Given the description of an element on the screen output the (x, y) to click on. 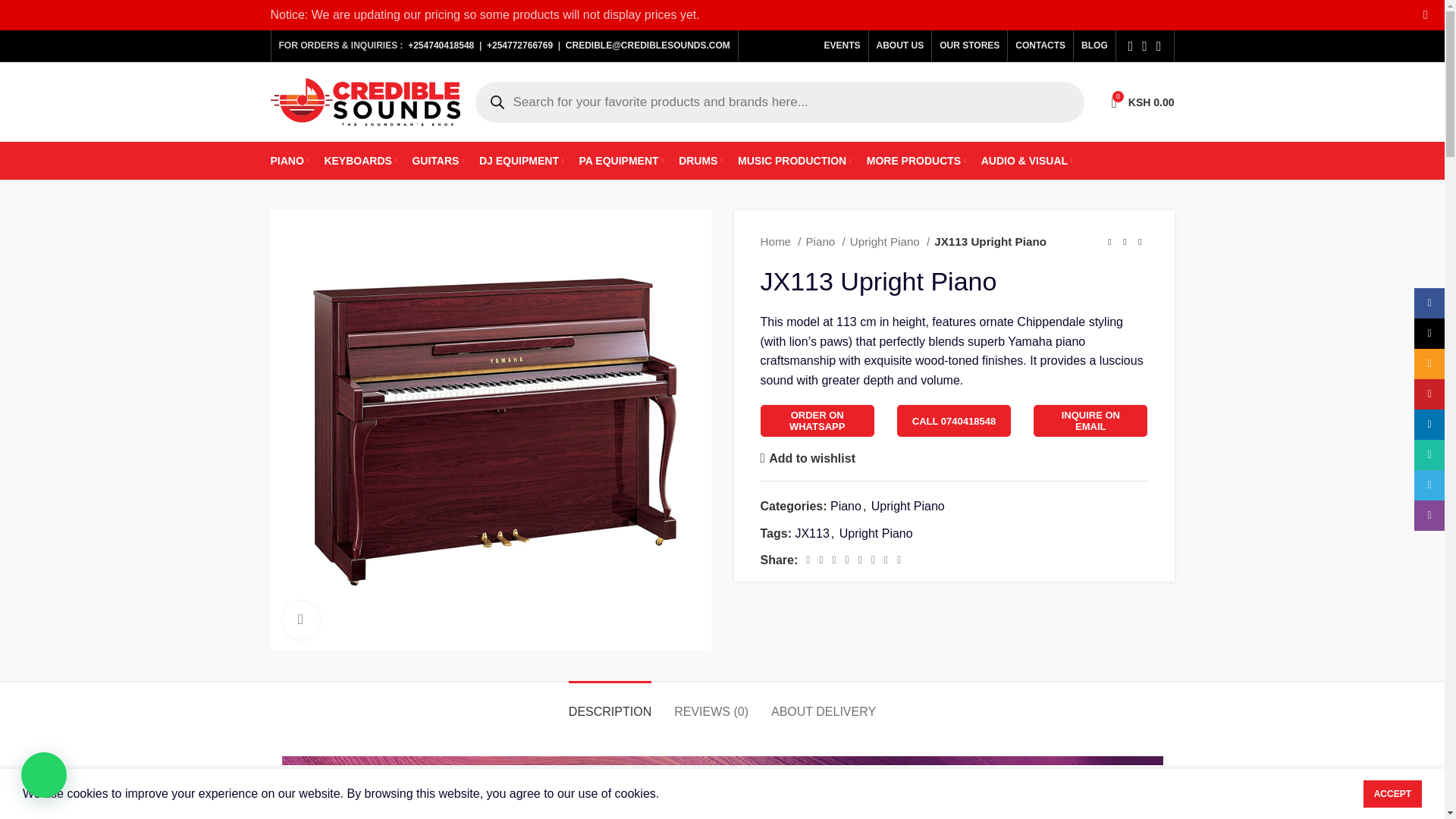
ABOUT US (900, 45)
Shopping cart (1141, 101)
KEYBOARDS (359, 160)
Call To Order (953, 420)
EVENTS (842, 45)
Order On WhatsApp (816, 420)
OUR STORES (968, 45)
PIANO (288, 160)
CONTACTS (1039, 45)
772766769 (529, 45)
BLOG (1141, 101)
